Given the description of an element on the screen output the (x, y) to click on. 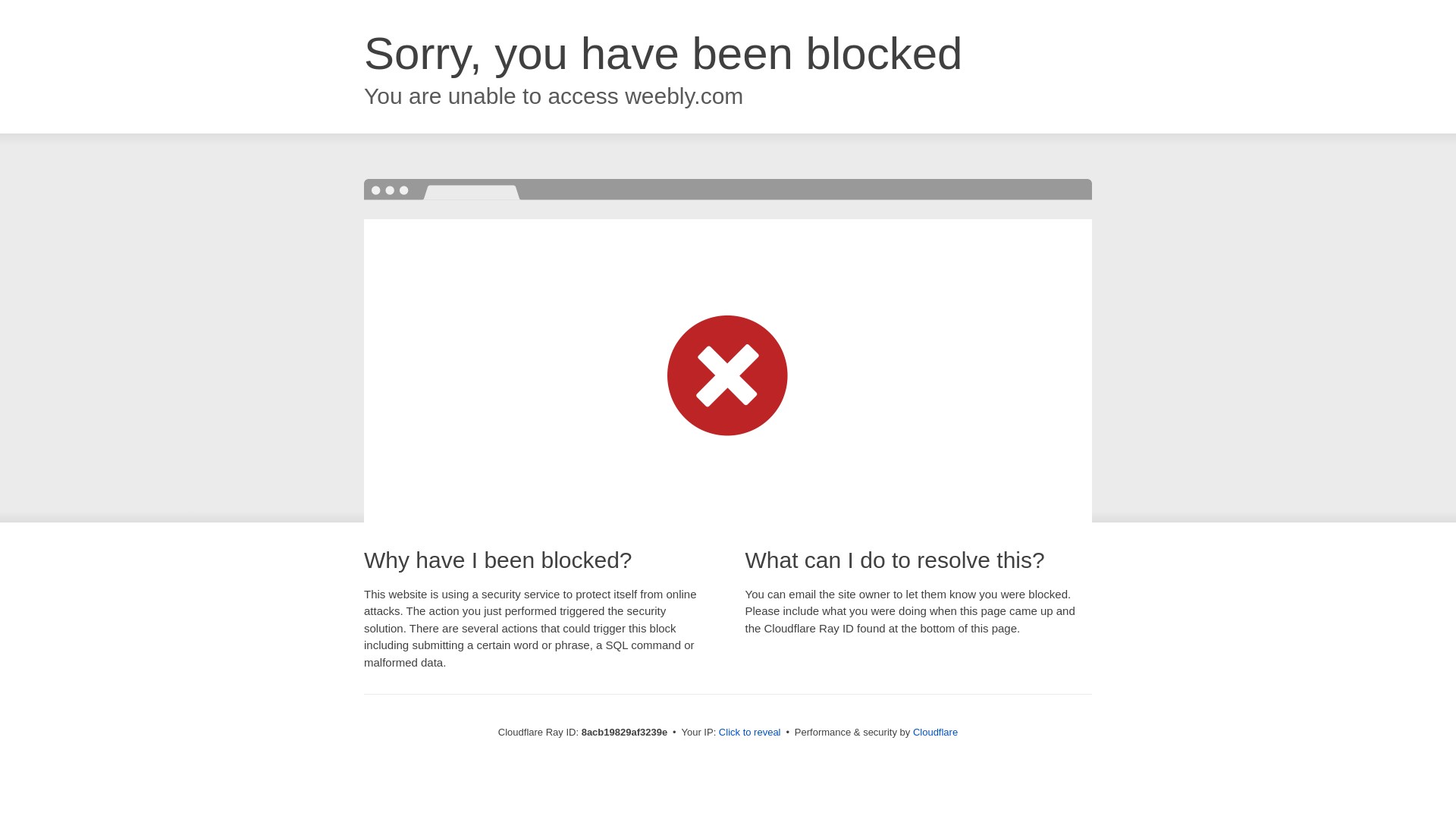
Cloudflare (935, 731)
Click to reveal (749, 732)
